Given the description of an element on the screen output the (x, y) to click on. 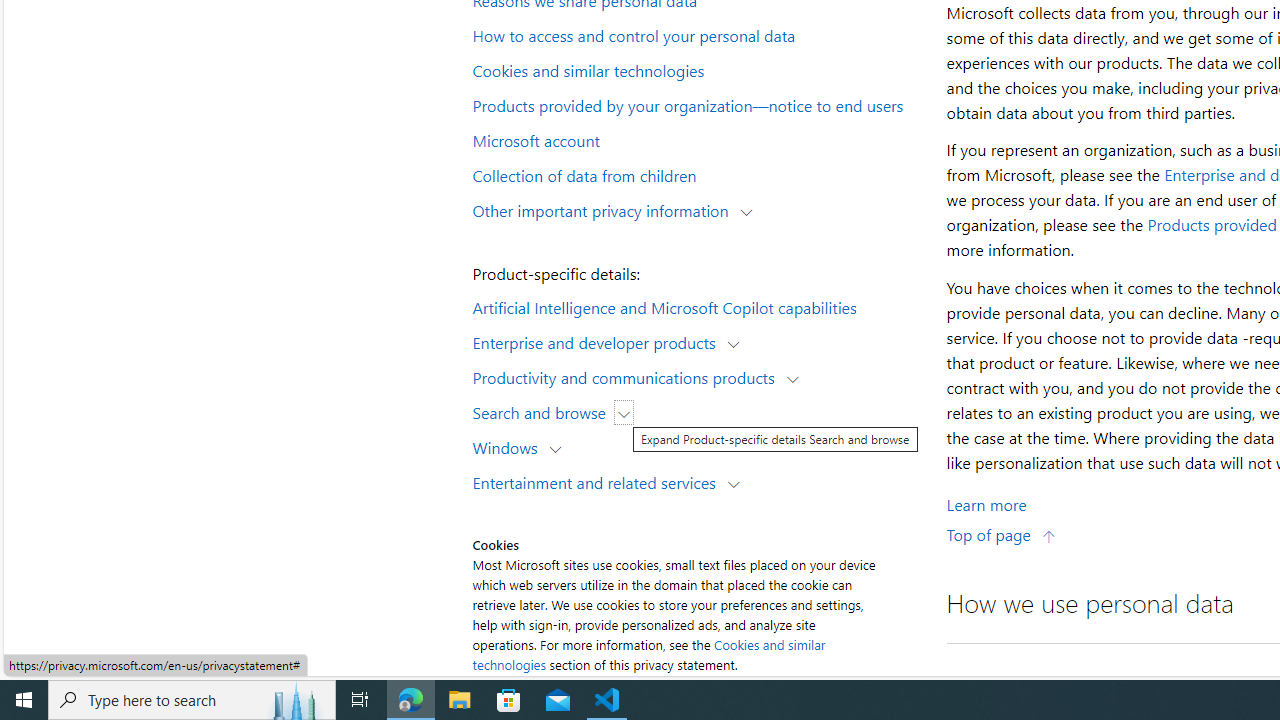
Microsoft account (696, 139)
Collection of data from children (696, 174)
How to access and control your personal data (696, 35)
Search and browse (543, 412)
Enterprise and developer products (598, 341)
Cookies and similar technologies (696, 69)
Productivity and communications products (628, 376)
Artificial Intelligence and Microsoft Copilot capabilities (696, 306)
Top of page (1001, 534)
Learn More about Personal data we collect (985, 504)
Cookies and similar technologies (648, 654)
Windows (509, 446)
Entertainment and related services (598, 481)
